Given the description of an element on the screen output the (x, y) to click on. 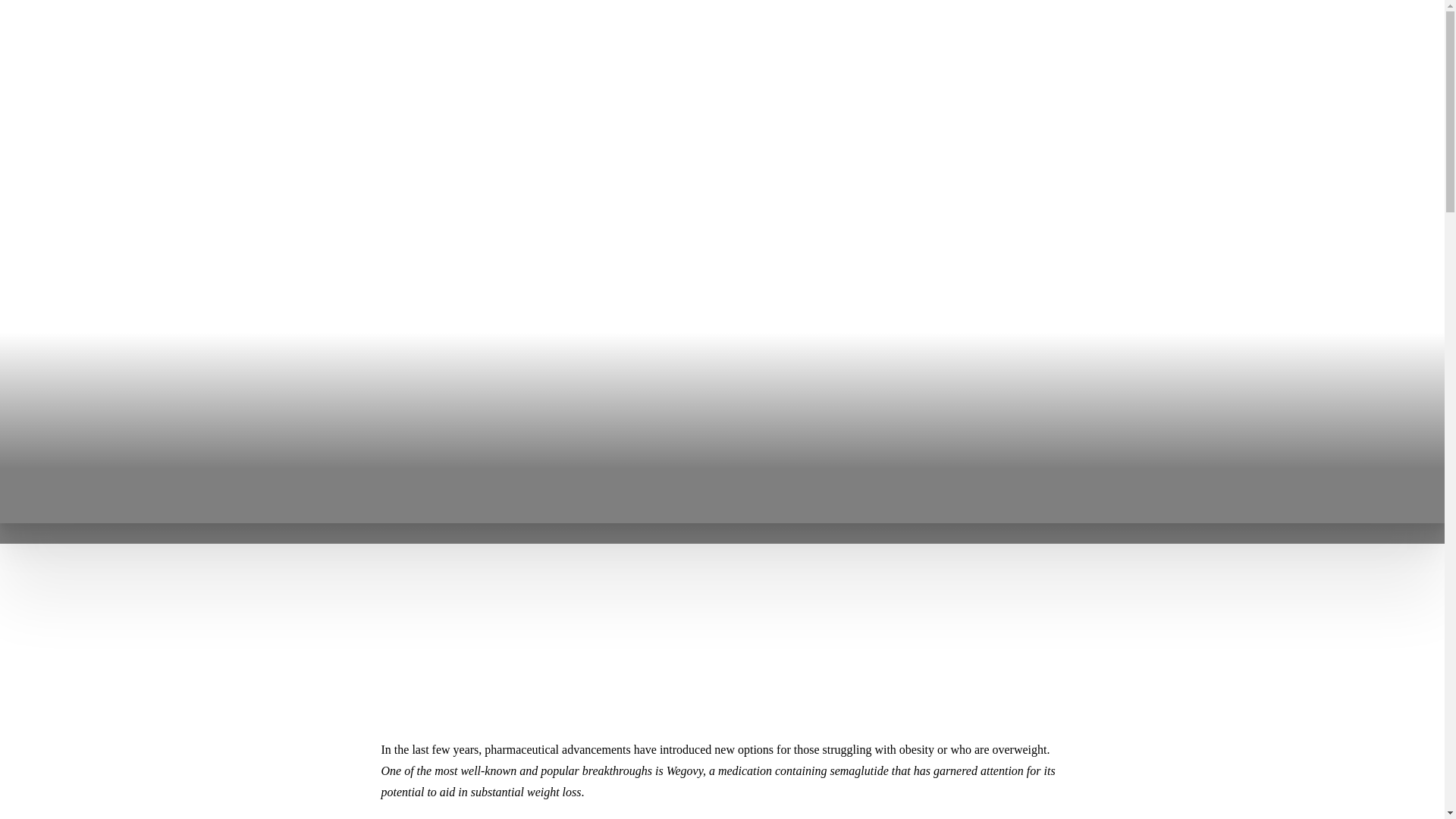
Laser Hair Removal (520, 212)
For Men (274, 418)
Skin Treatments (660, 186)
Dermalinfusion (660, 289)
Kybella (404, 237)
Dermal Fillers (404, 263)
ALL PROCEDURES (92, 134)
Botox Cosmetic (404, 212)
Breast Reduction (110, 289)
Body (274, 186)
